Given the description of an element on the screen output the (x, y) to click on. 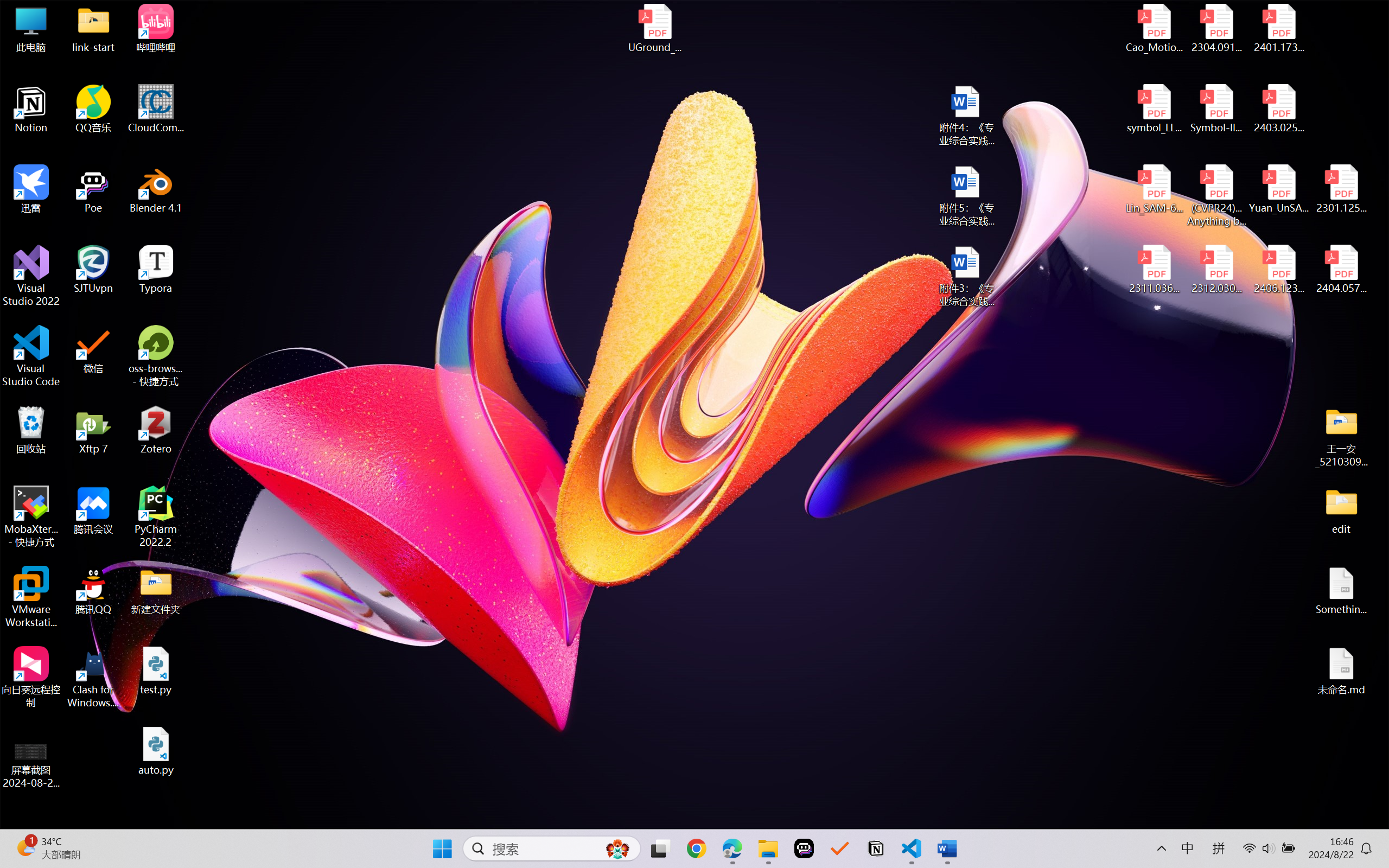
2401.17399v1.pdf (1278, 28)
Visual Studio 2022 (31, 276)
CloudCompare (156, 109)
edit (1340, 510)
2406.12373v2.pdf (1278, 269)
auto.py (156, 751)
SJTUvpn (93, 269)
Typora (156, 269)
2312.03032v2.pdf (1216, 269)
2301.12597v3.pdf (1340, 189)
